Given the description of an element on the screen output the (x, y) to click on. 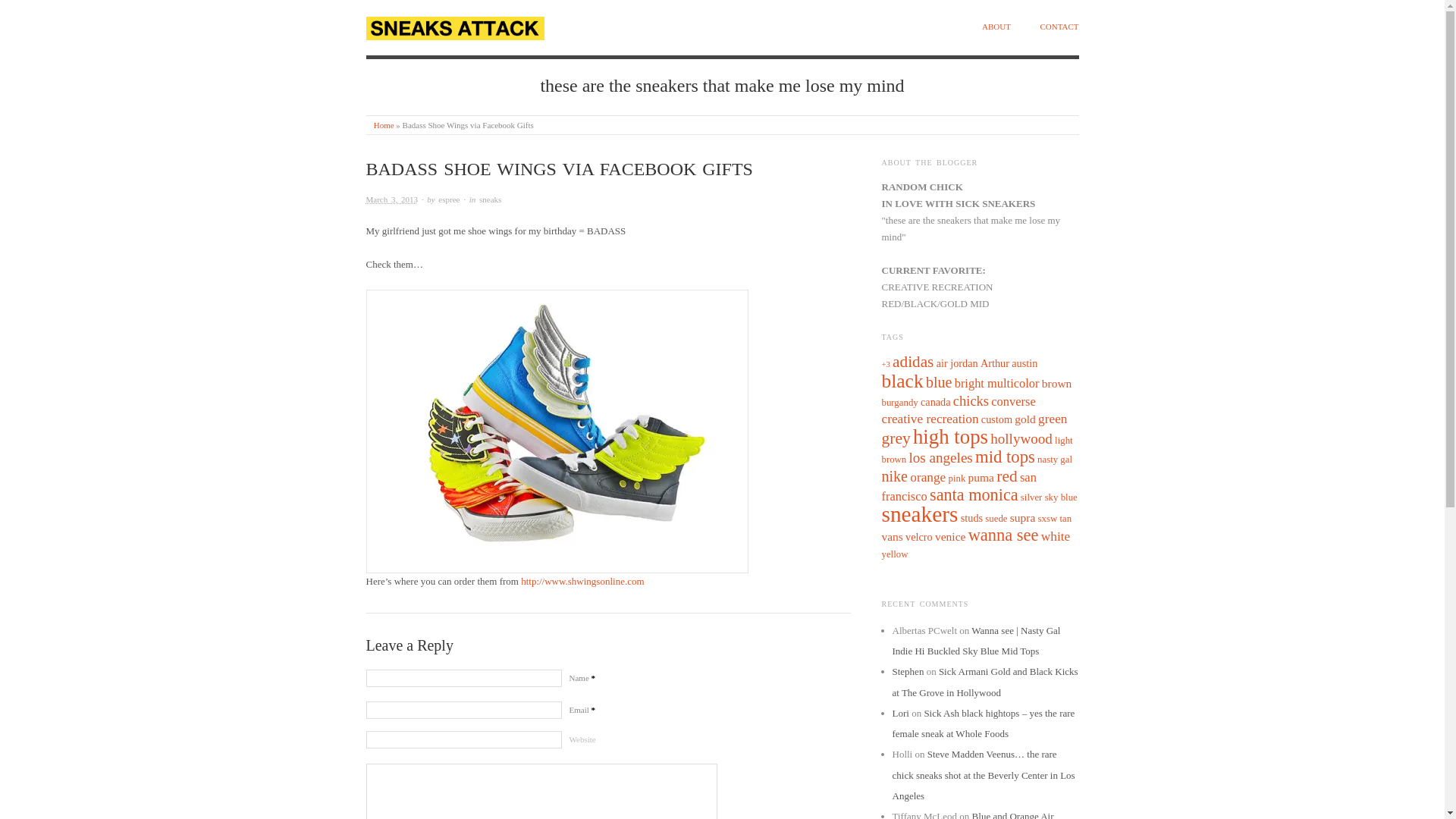
grey (895, 438)
converse (1013, 400)
3 topics (1023, 363)
5 topics (997, 382)
blue (939, 381)
11 topics (939, 381)
Home (384, 124)
1 topic (884, 364)
green (1052, 418)
canada (935, 401)
chicks (970, 400)
espree (449, 198)
high tops (950, 436)
sneaks (489, 198)
Sunday, March 3rd, 2013, 3:36 pm (390, 198)
